Given the description of an element on the screen output the (x, y) to click on. 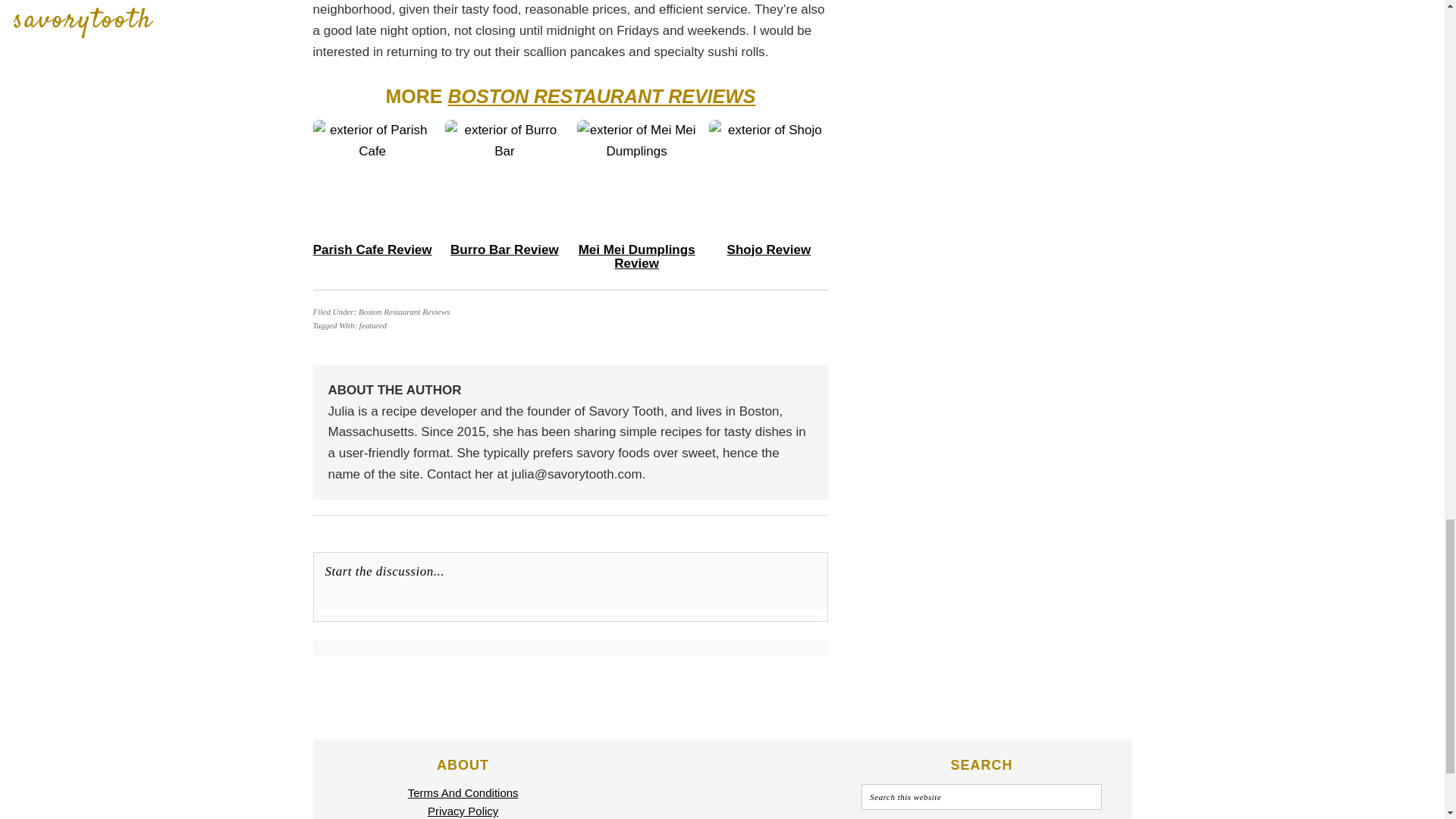
Shojo Review (768, 249)
Burro Bar Review (504, 249)
Parish Cafe Review (372, 249)
Mei Mei Dumplings Review (636, 256)
Burro Bar Review (504, 249)
Parish Cafe Review (372, 249)
BOSTON RESTAURANT REVIEWS (600, 96)
